Given the description of an element on the screen output the (x, y) to click on. 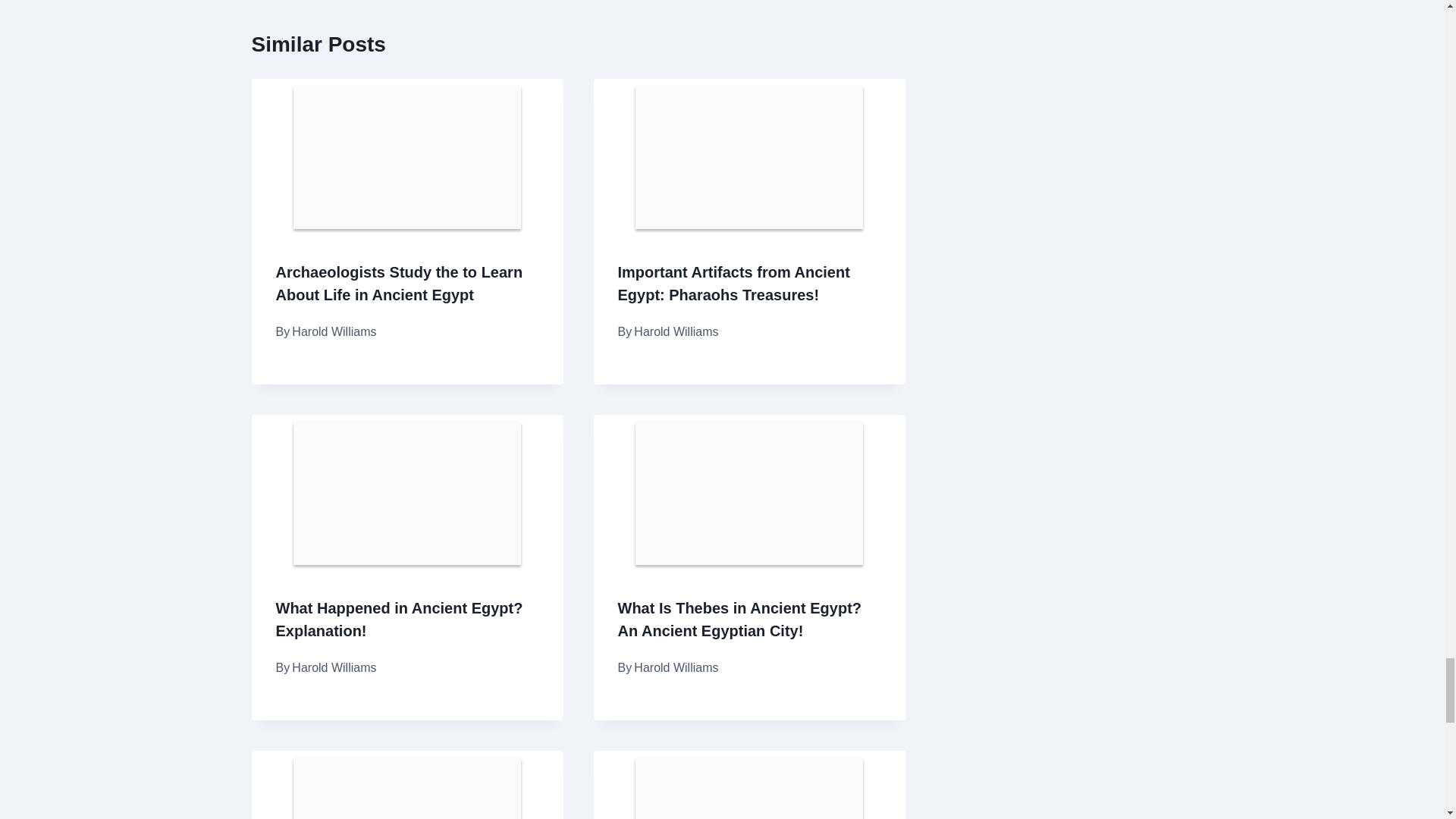
What Happened in Ancient Egypt? Explanation! (399, 619)
Important Artifacts from Ancient Egypt: Pharaohs Treasures! (732, 283)
